Given the description of an element on the screen output the (x, y) to click on. 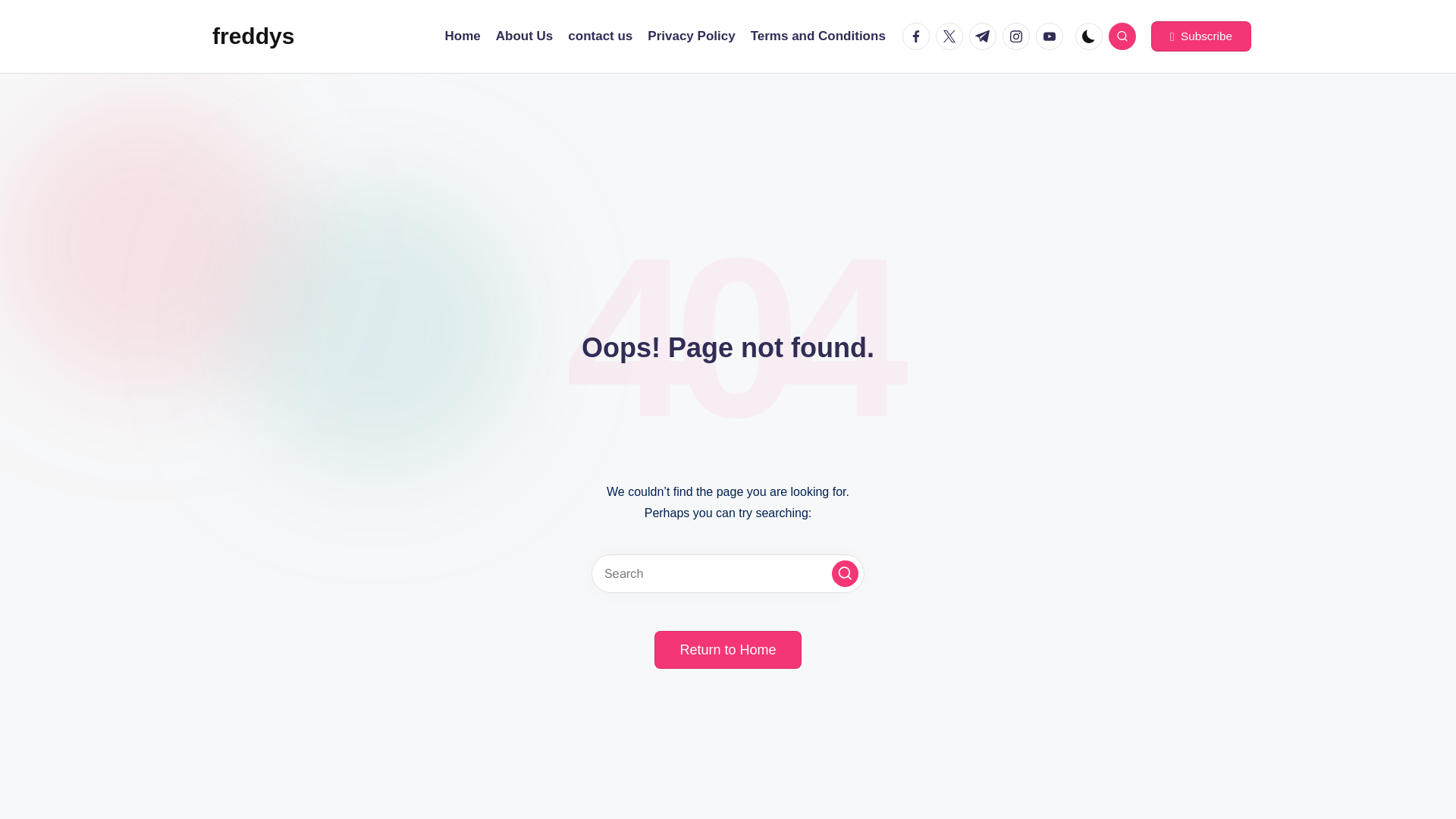
Home (462, 36)
Privacy Policy (691, 36)
youtube.com (1051, 35)
Return to Home (726, 649)
contact us (599, 36)
t.me (986, 35)
Subscribe (1200, 36)
freddys (253, 36)
instagram.com (1019, 35)
twitter.com (952, 35)
